Given the description of an element on the screen output the (x, y) to click on. 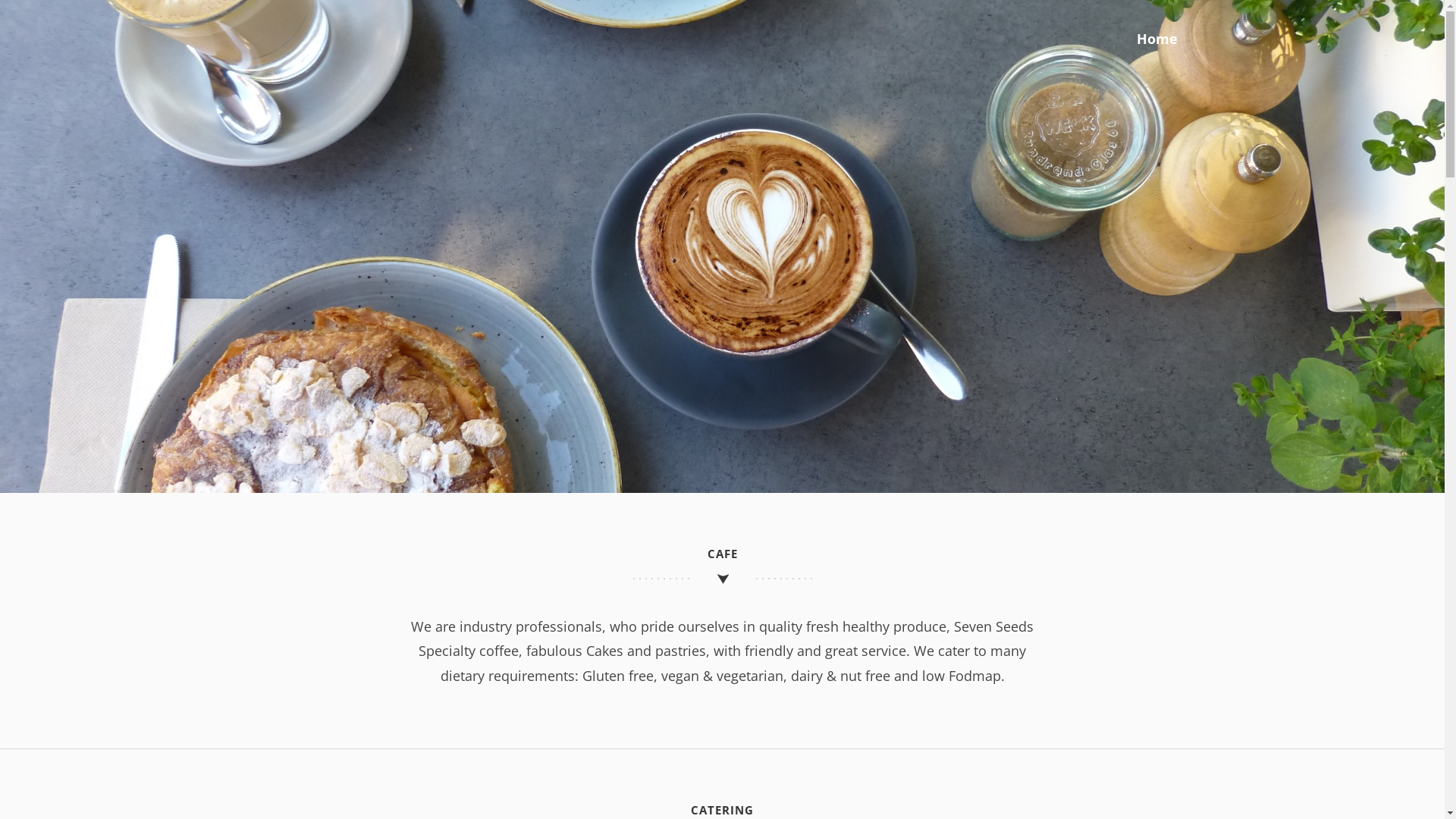
Home Element type: text (1156, 38)
